Given the description of an element on the screen output the (x, y) to click on. 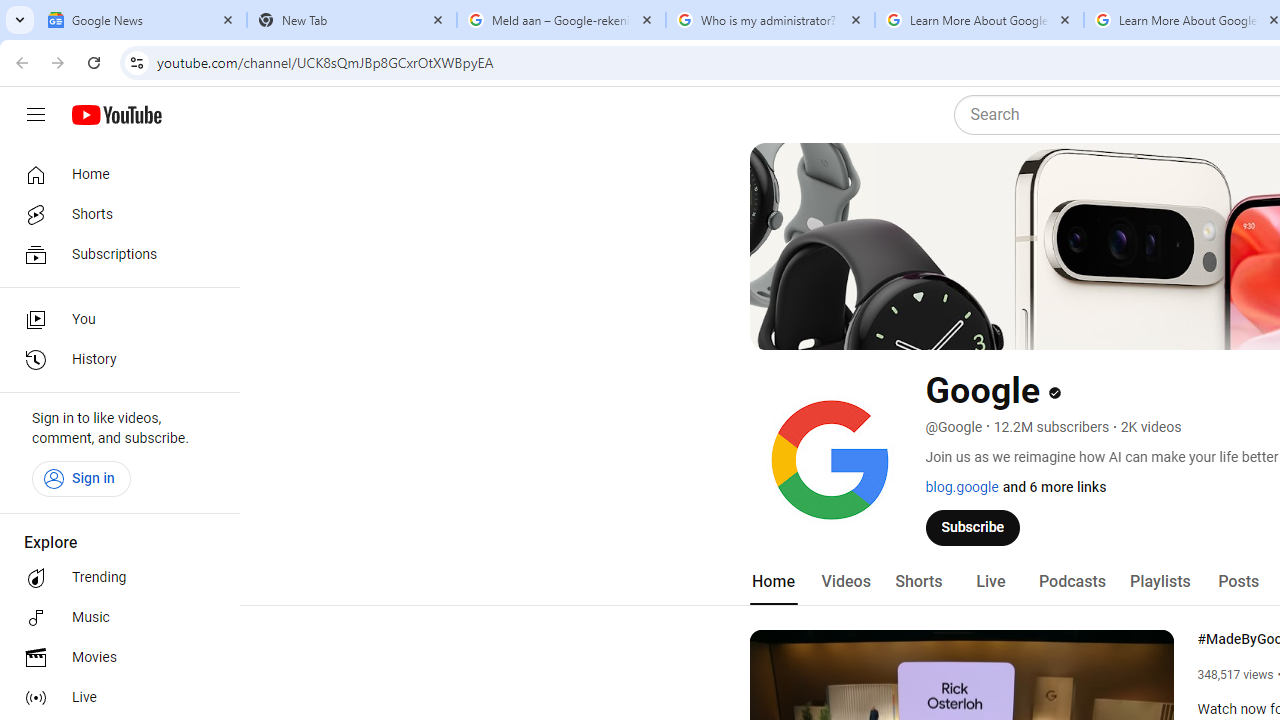
Shorts (918, 581)
Posts (1238, 581)
blog.google (961, 487)
History (113, 359)
Live (113, 697)
and 6 more links (1054, 487)
Videos (845, 581)
Google News (142, 20)
